Given the description of an element on the screen output the (x, y) to click on. 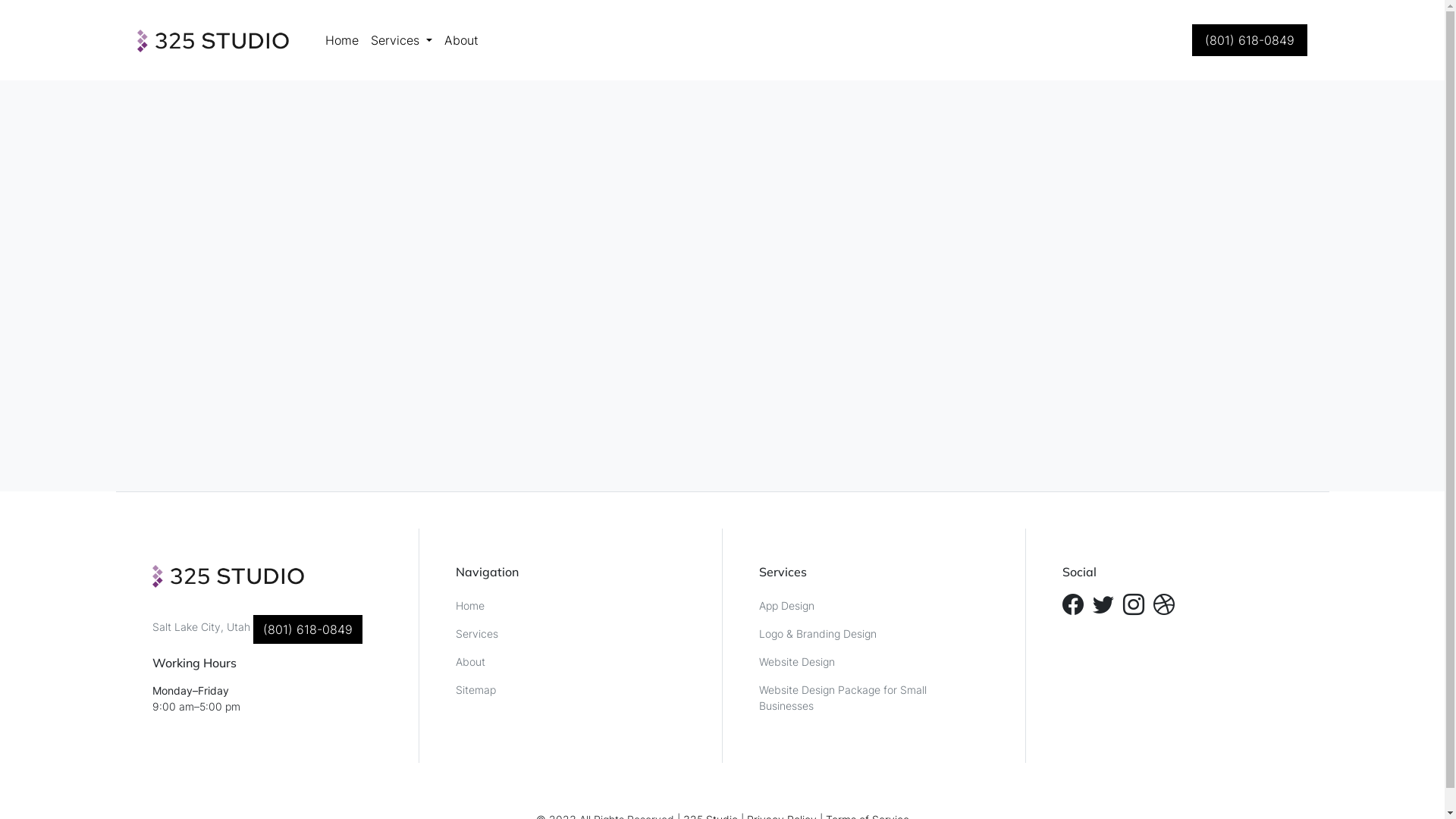
Twitter Element type: hover (1102, 603)
Website Design Element type: text (873, 661)
Services Element type: text (569, 633)
Dribbble Element type: hover (1162, 603)
Instagram Element type: hover (1132, 603)
Sitemap Element type: text (569, 689)
About Element type: text (461, 40)
Home Element type: text (341, 40)
About Element type: text (569, 661)
App Design Element type: text (873, 605)
Logo & Branding Design Element type: text (873, 633)
Services Element type: text (401, 40)
Facebook Element type: hover (1071, 603)
Home Element type: text (569, 605)
(801) 618-0849 Element type: text (1249, 40)
Website Design Package for Small Businesses Element type: text (873, 697)
(801) 618-0849 Element type: text (307, 629)
